Given the description of an element on the screen output the (x, y) to click on. 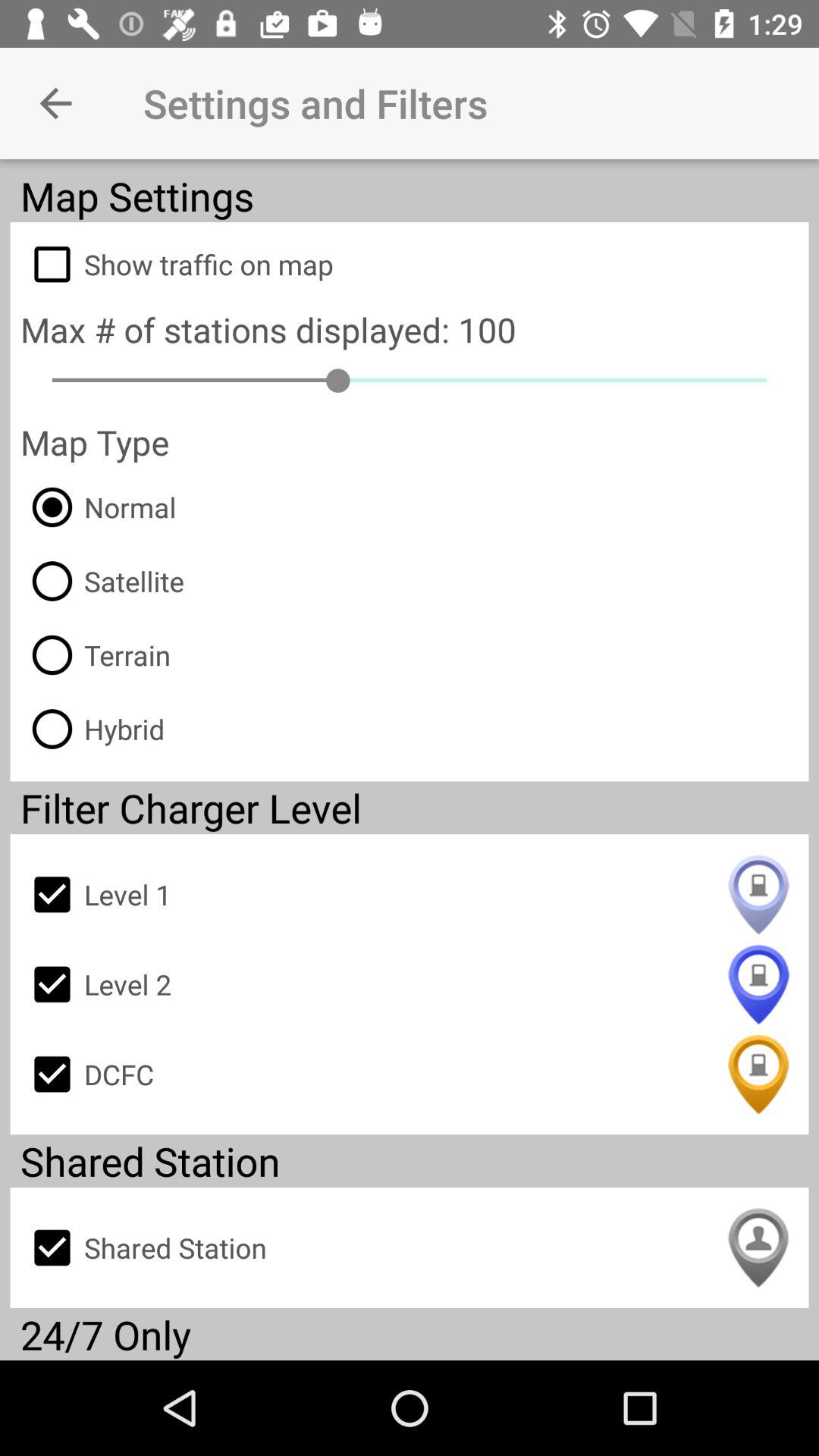
click item above level 2 icon (409, 894)
